Given the description of an element on the screen output the (x, y) to click on. 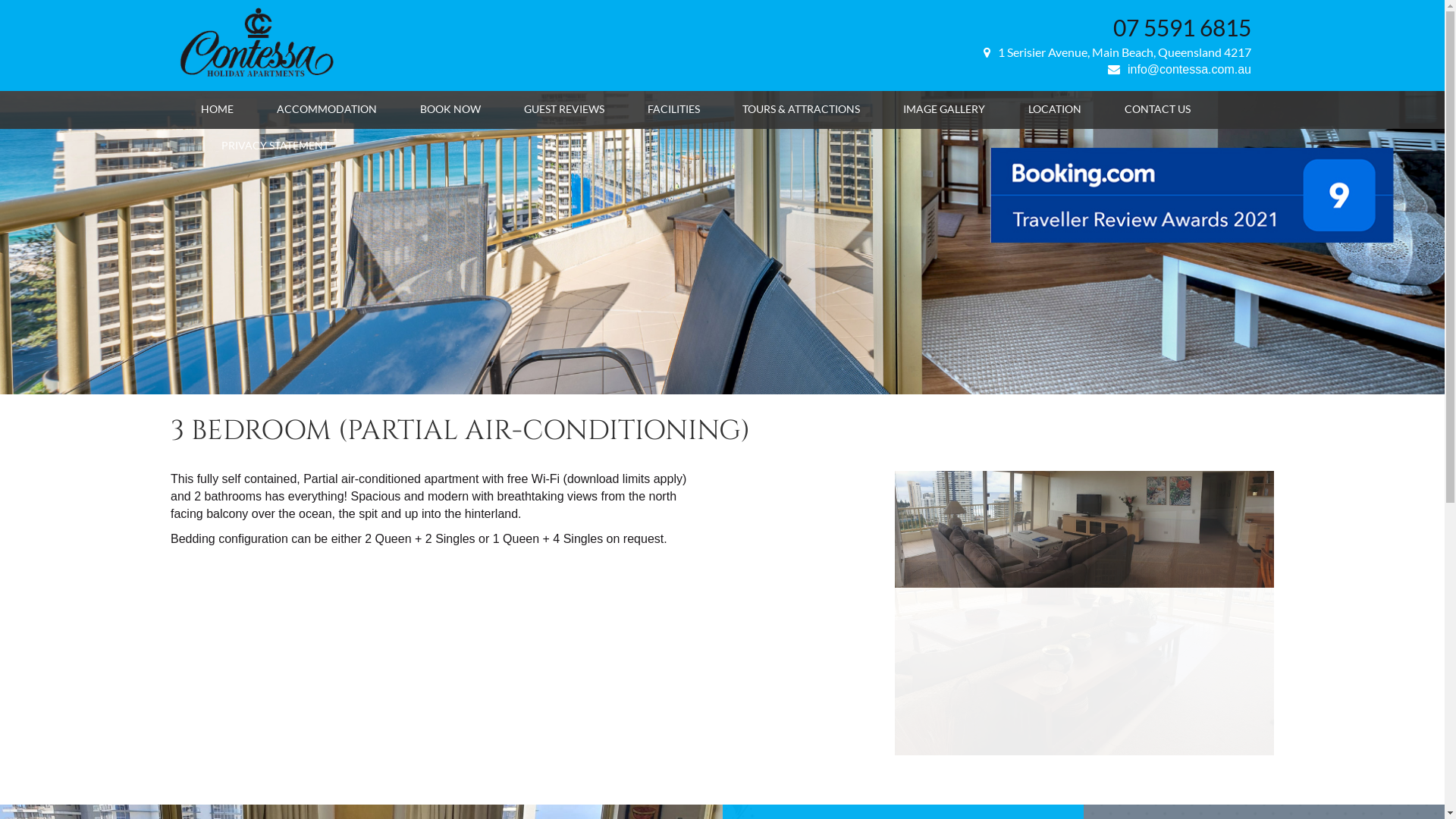
info@contessa.com.au Element type: text (1179, 68)
CONTACT US Element type: text (1157, 109)
TOURS & ATTRACTIONS Element type: text (800, 109)
07 5591 6815 Element type: text (1182, 26)
FACILITIES Element type: text (673, 109)
BOOK NOW Element type: text (450, 109)
1 Serisier Avenue, Main Beach, Queensland 4217 Element type: text (1117, 51)
LOCATION Element type: text (1054, 109)
ACCOMMODATION Element type: text (326, 109)
GUEST REVIEWS Element type: text (564, 109)
IMAGE GALLERY Element type: text (944, 109)
PRIVACY STATEMENT Element type: text (275, 145)
HOME Element type: text (216, 109)
